Given the description of an element on the screen output the (x, y) to click on. 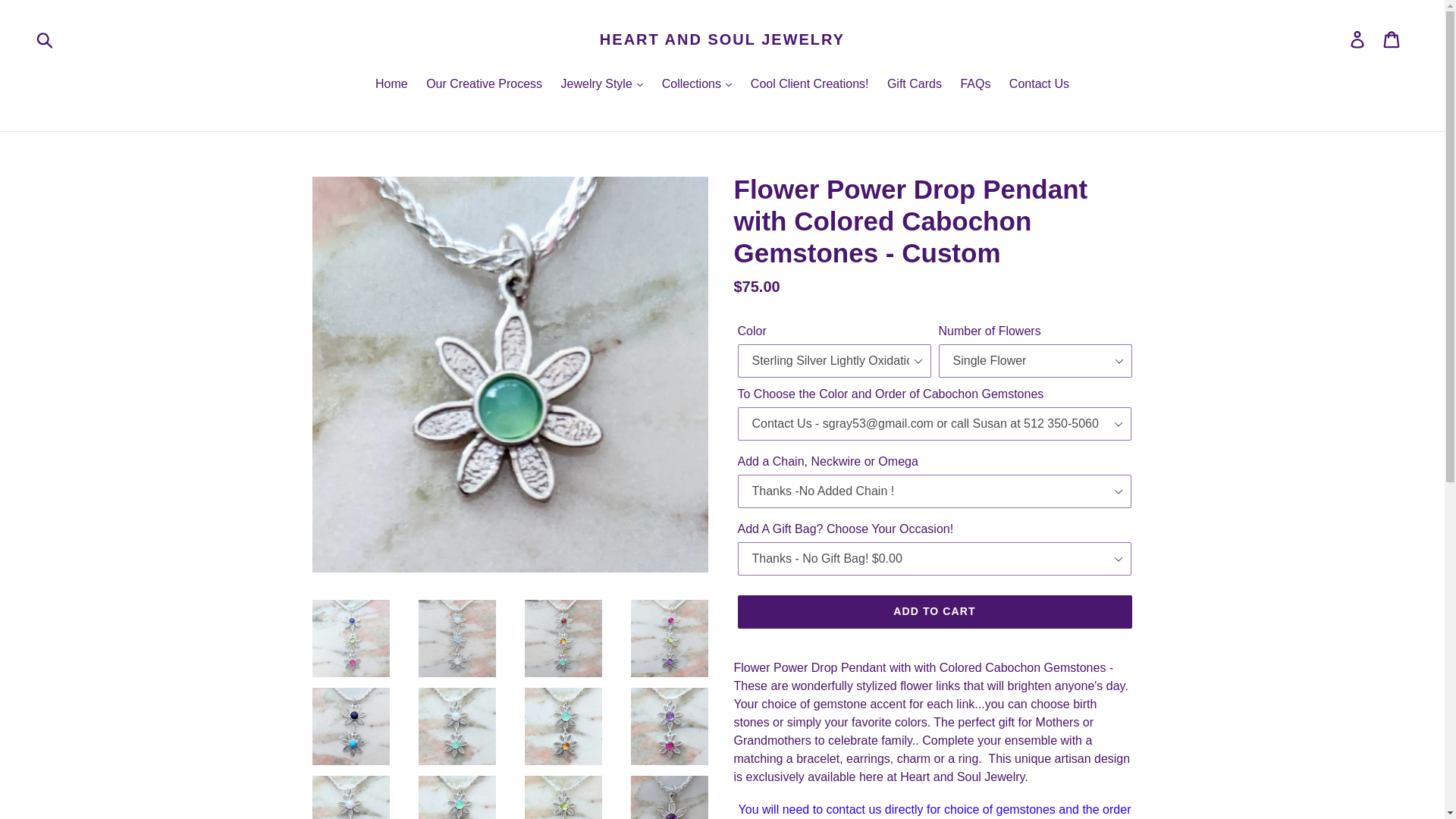
HEART AND SOUL JEWELRY (721, 39)
Log in (1357, 39)
Home (391, 85)
Submit (45, 39)
Our Creative Process (484, 85)
Cart (1392, 39)
